Given the description of an element on the screen output the (x, y) to click on. 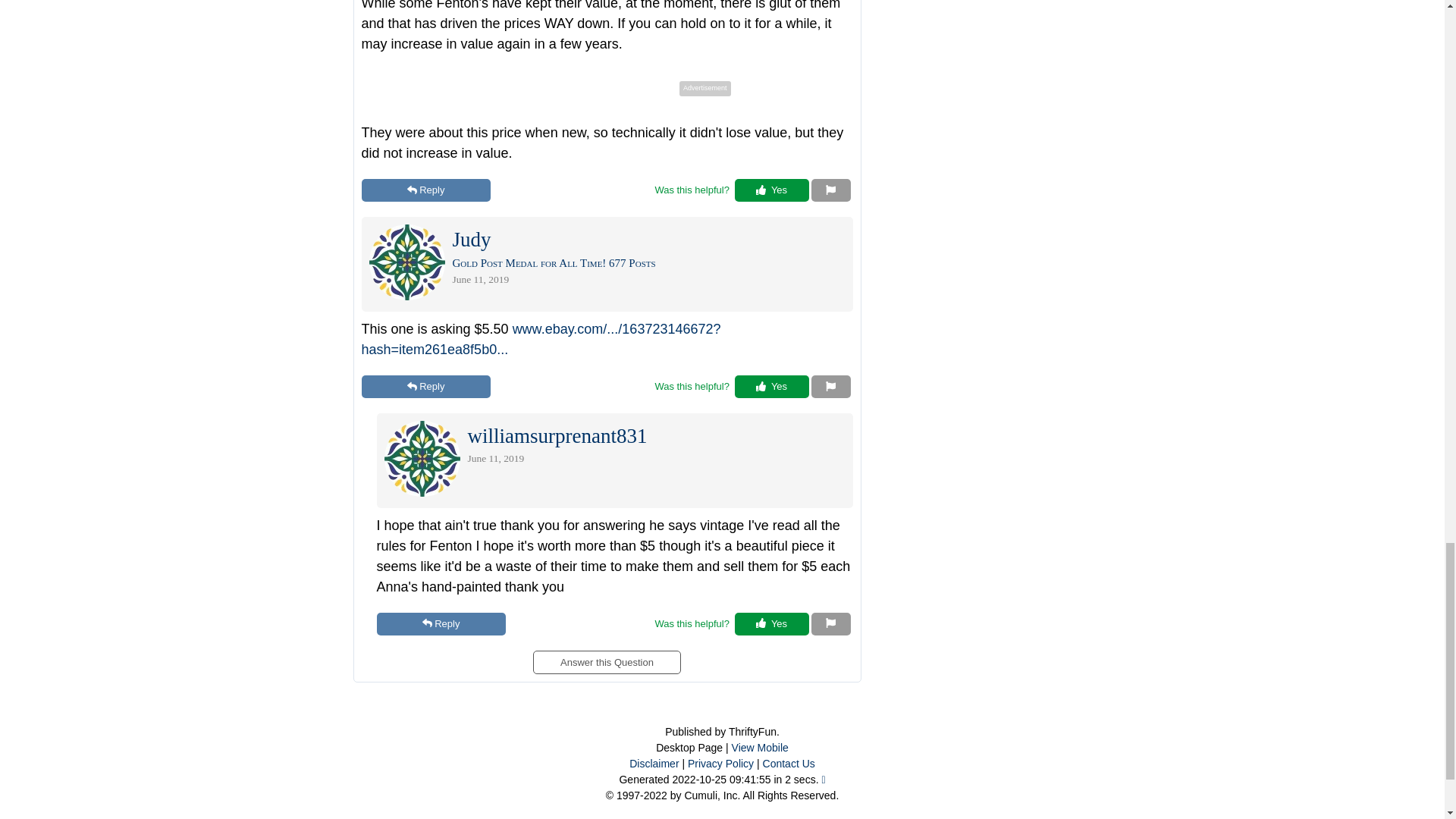
Judy (470, 242)
williamsurprenant831 (556, 439)
 Reply (440, 623)
Answer this Question (605, 657)
 Reply (425, 190)
 Reply (425, 386)
